Given the description of an element on the screen output the (x, y) to click on. 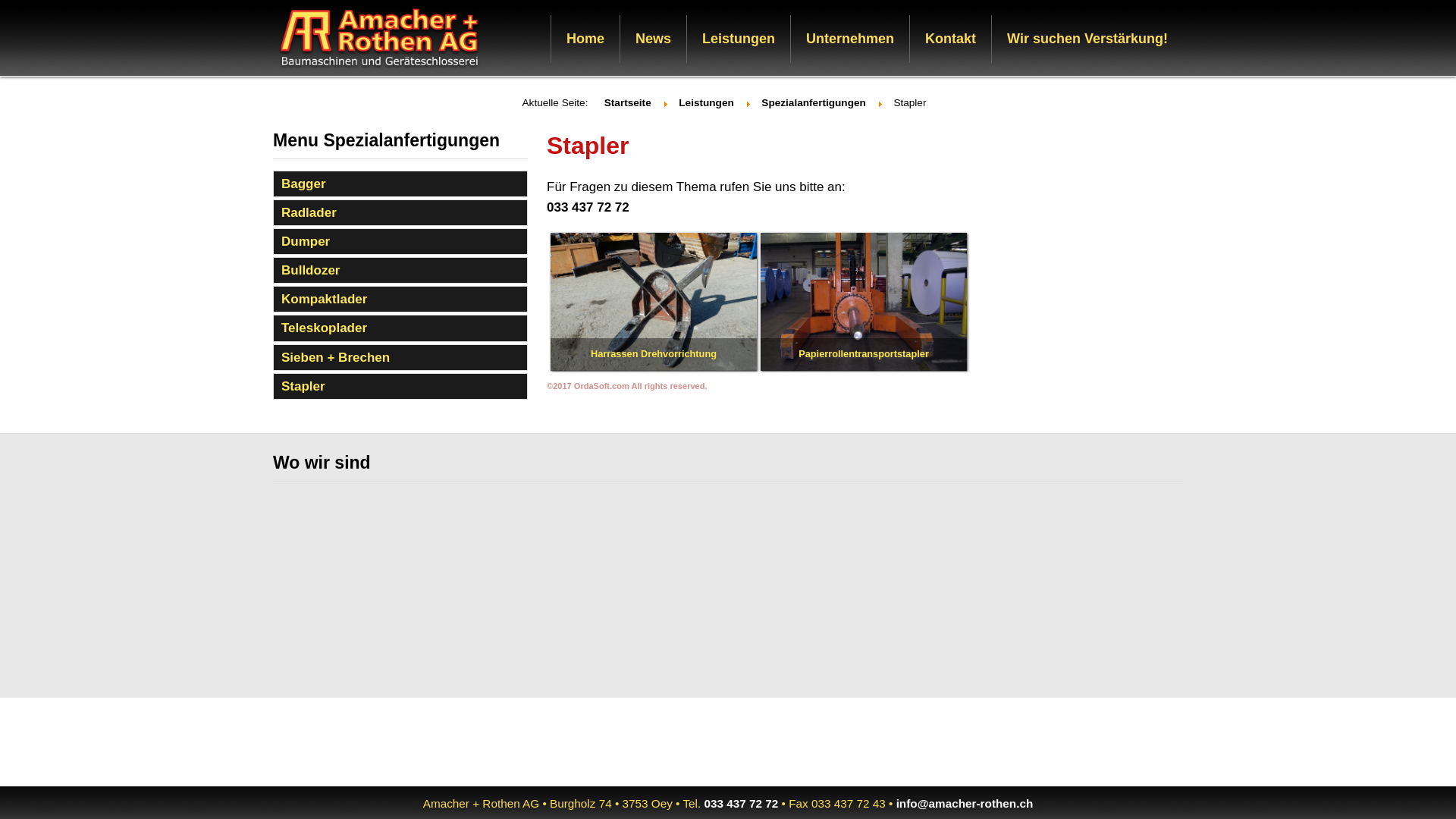
Leistungen Element type: text (706, 102)
Kontakt Element type: text (950, 38)
Papierrollentransportstapler Element type: text (863, 301)
Kompaktlader Element type: text (400, 298)
Bulldozer Element type: text (400, 270)
Unternehmen Element type: text (850, 38)
Sieben + Brechen Element type: text (400, 357)
News Element type: text (653, 38)
Dumper Element type: text (400, 241)
info@amacher-rothen.ch Element type: text (964, 803)
Leistungen Element type: text (738, 38)
Radlader Element type: text (400, 212)
Stapler Element type: text (400, 386)
Home Element type: text (585, 38)
033 437 72 72 Element type: text (740, 803)
Startseite Element type: text (627, 102)
Harrassen Drehvorrichtung Element type: text (653, 301)
Bagger Element type: text (400, 183)
Spezialanfertigungen Element type: text (813, 102)
Teleskoplader Element type: text (400, 327)
